Given the description of an element on the screen output the (x, y) to click on. 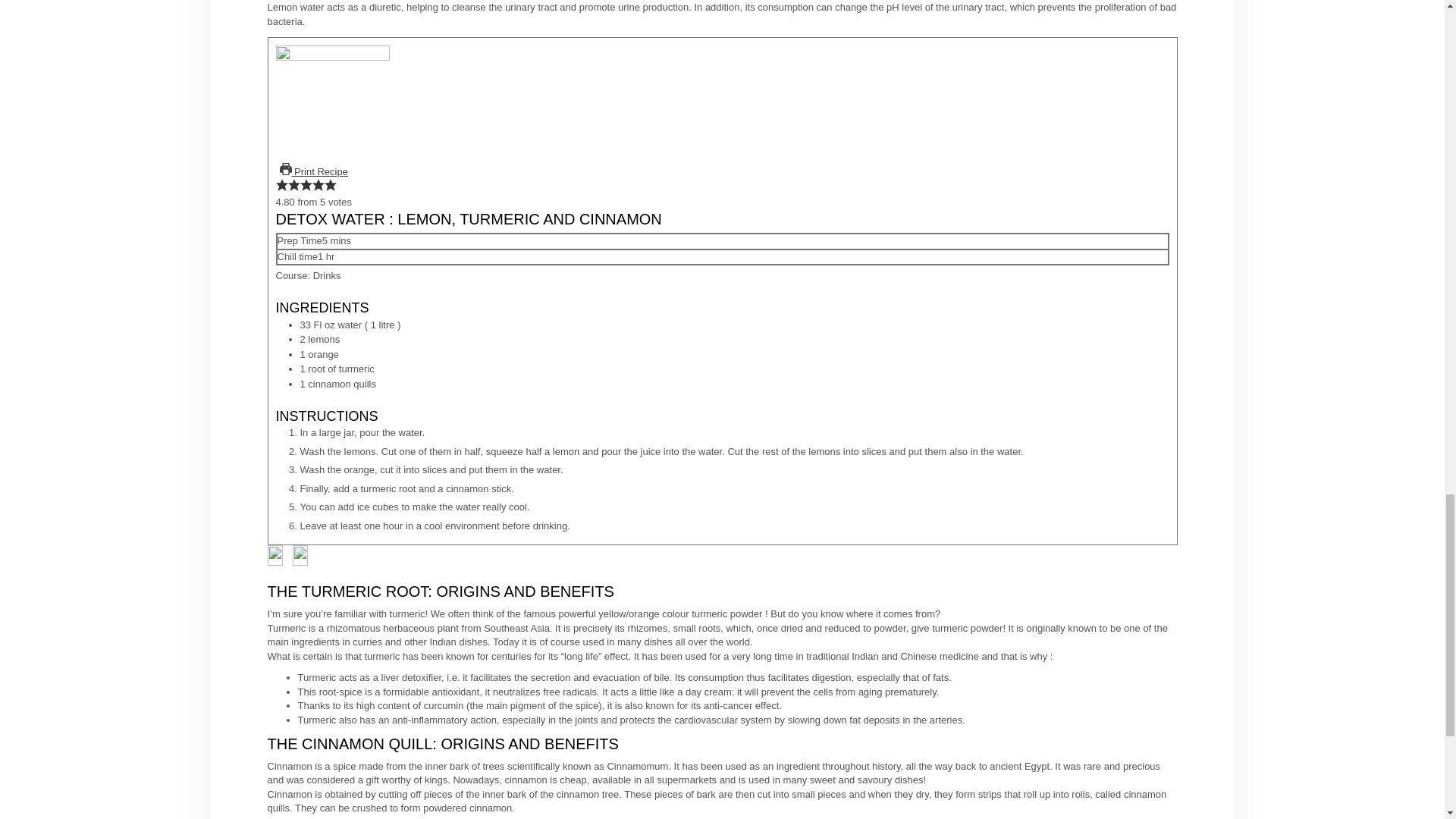
Print Recipe (314, 171)
